Given the description of an element on the screen output the (x, y) to click on. 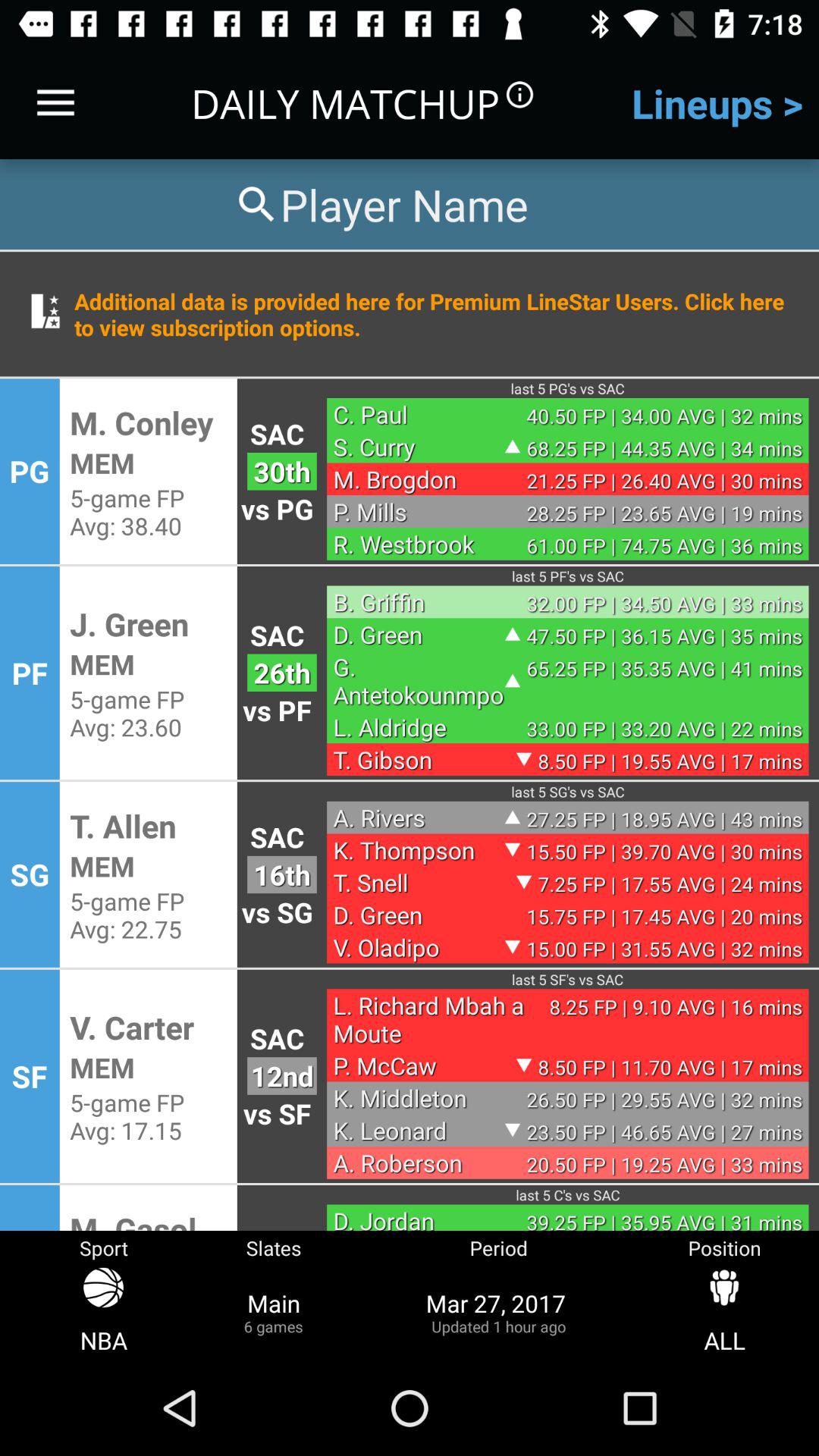
turn off the 26th icon (281, 672)
